Given the description of an element on the screen output the (x, y) to click on. 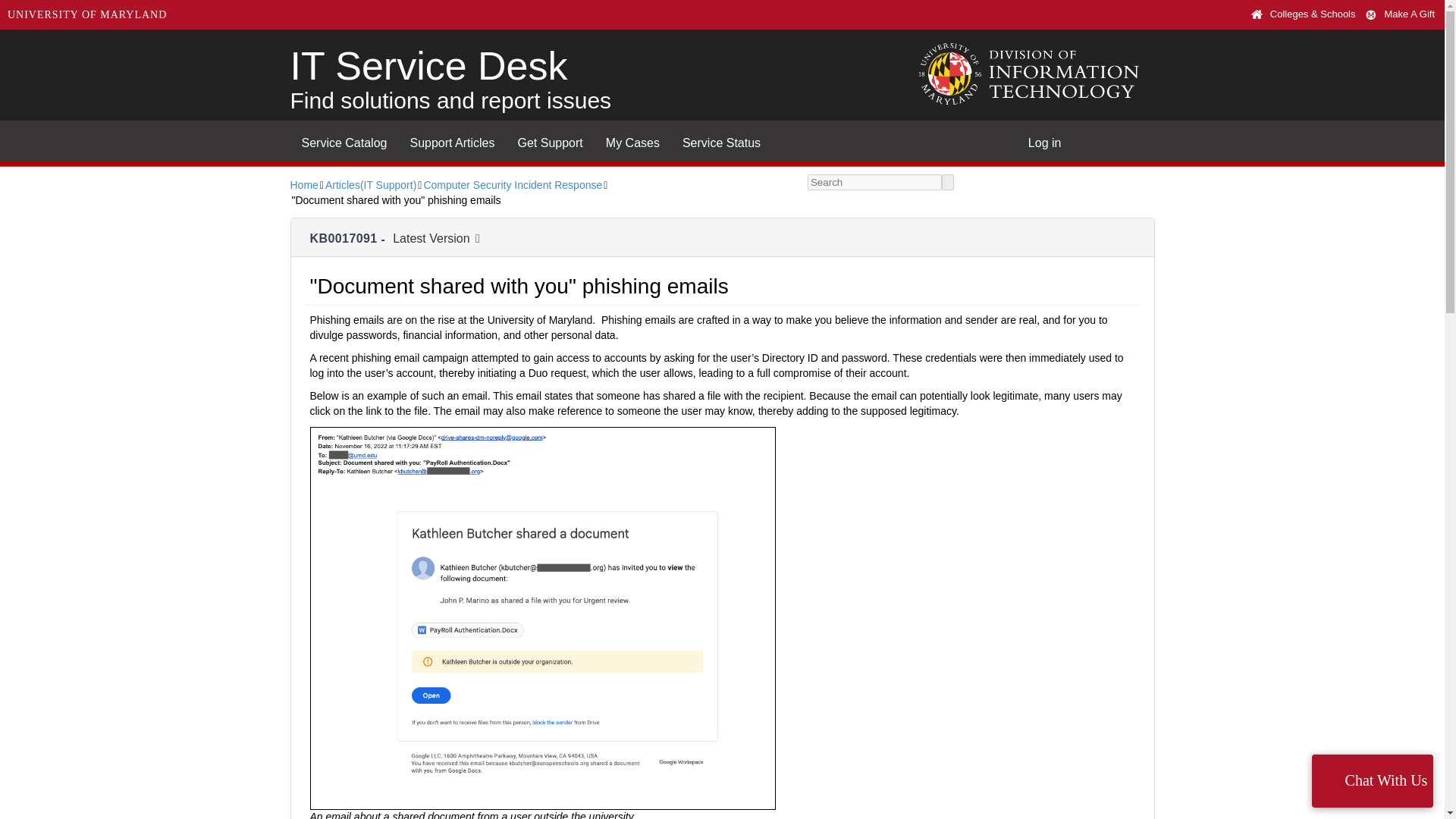
Service Catalog (343, 139)
My Cases (632, 139)
My Requests (632, 139)
Home (303, 185)
Chat With Us (1371, 780)
Computer Security Incident Response (512, 185)
Log in (1044, 139)
Get Support (550, 139)
School (1259, 14)
Gift (1374, 14)
